Given the description of an element on the screen output the (x, y) to click on. 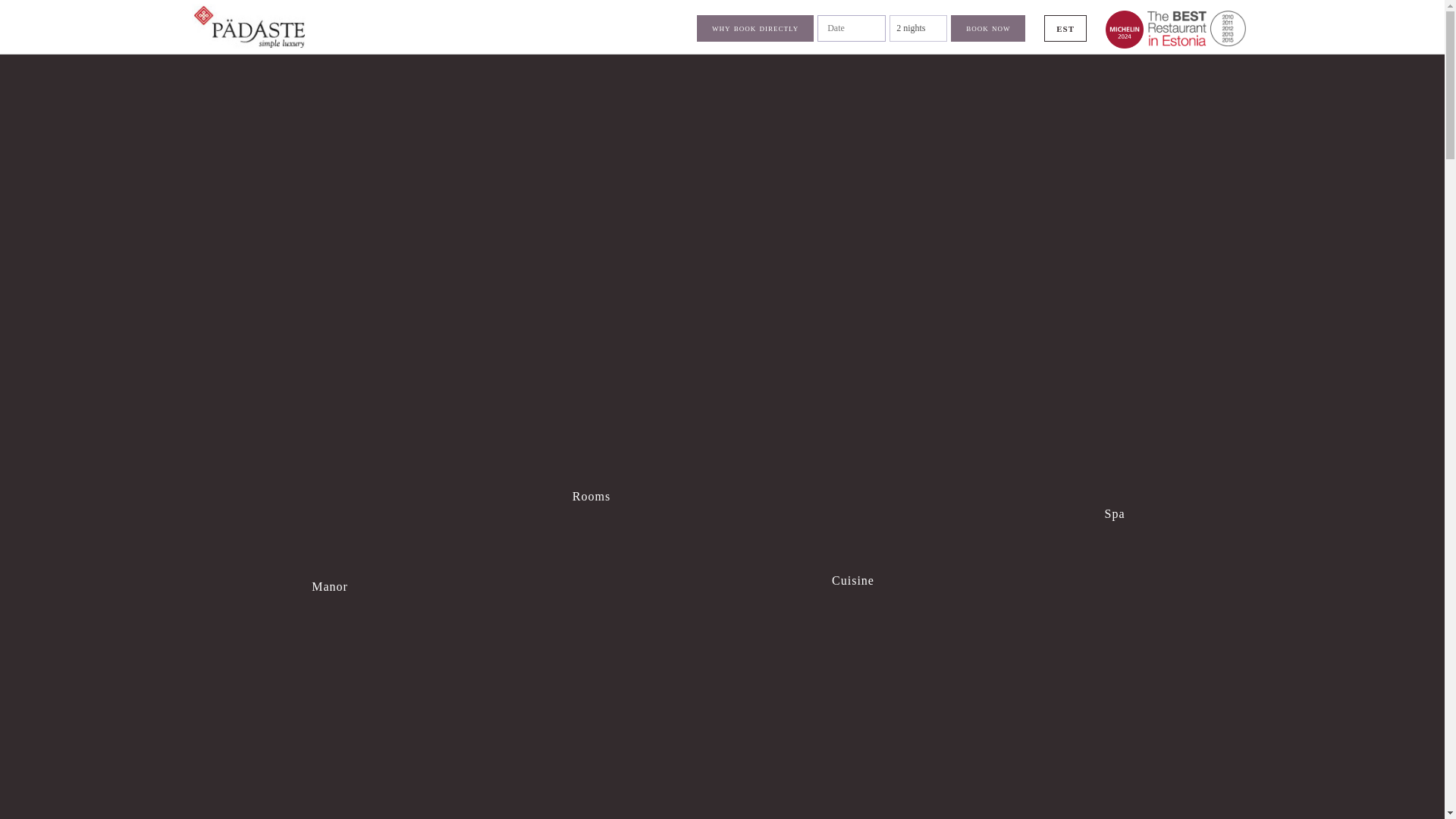
Home (247, 26)
Book now (987, 28)
Spa (1114, 417)
Return home (1195, 27)
Rooms (590, 408)
